Given the description of an element on the screen output the (x, y) to click on. 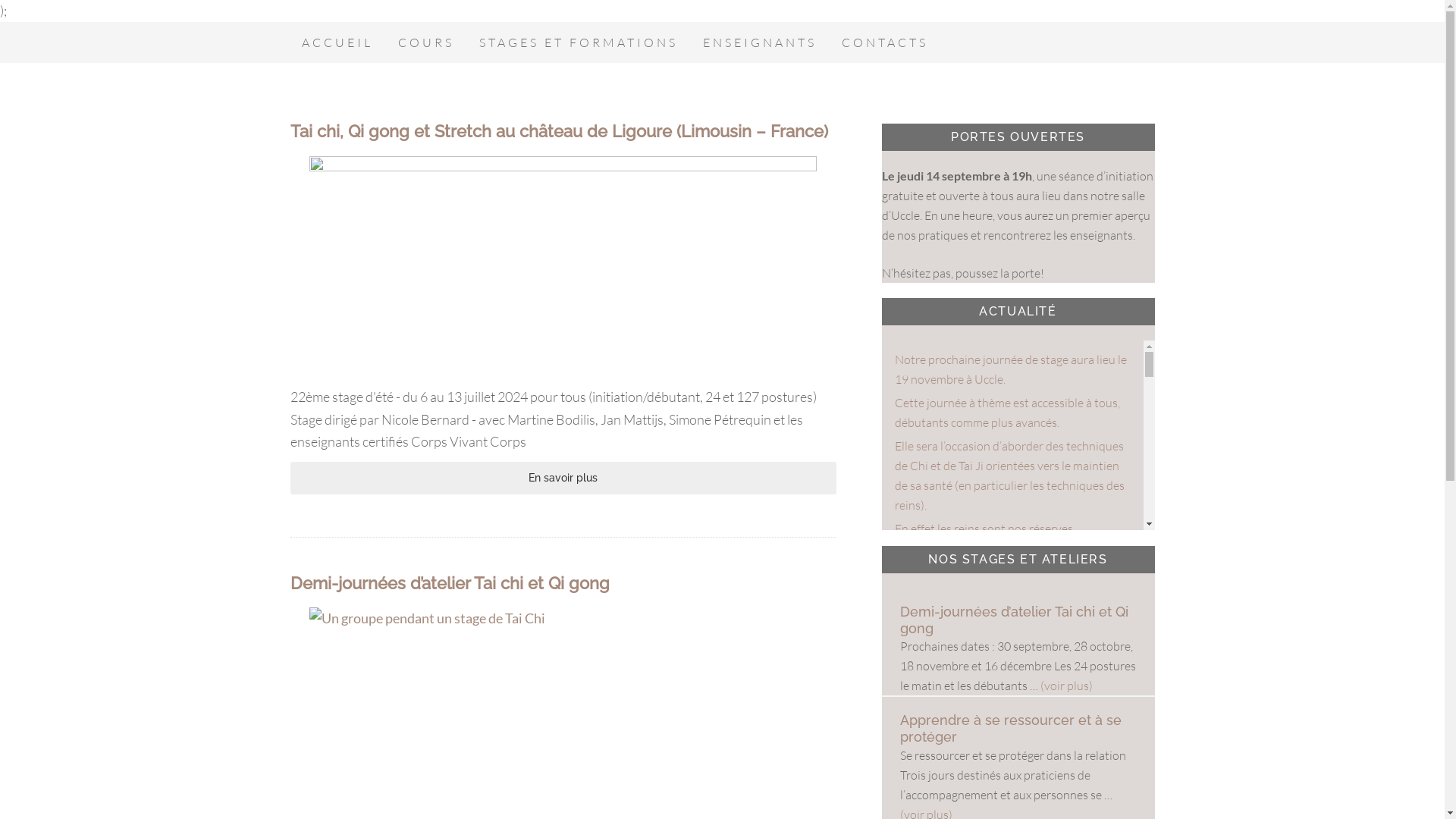
(voir plus) Element type: text (1066, 685)
ENSEIGNANTS Element type: text (759, 41)
ACCUEIL Element type: text (336, 41)
En savoir plus Element type: text (562, 477)
COURS Element type: text (425, 41)
CONTACTS Element type: text (883, 41)
voir plus Element type: text (919, 612)
STAGES ET FORMATIONS Element type: text (577, 41)
